Given the description of an element on the screen output the (x, y) to click on. 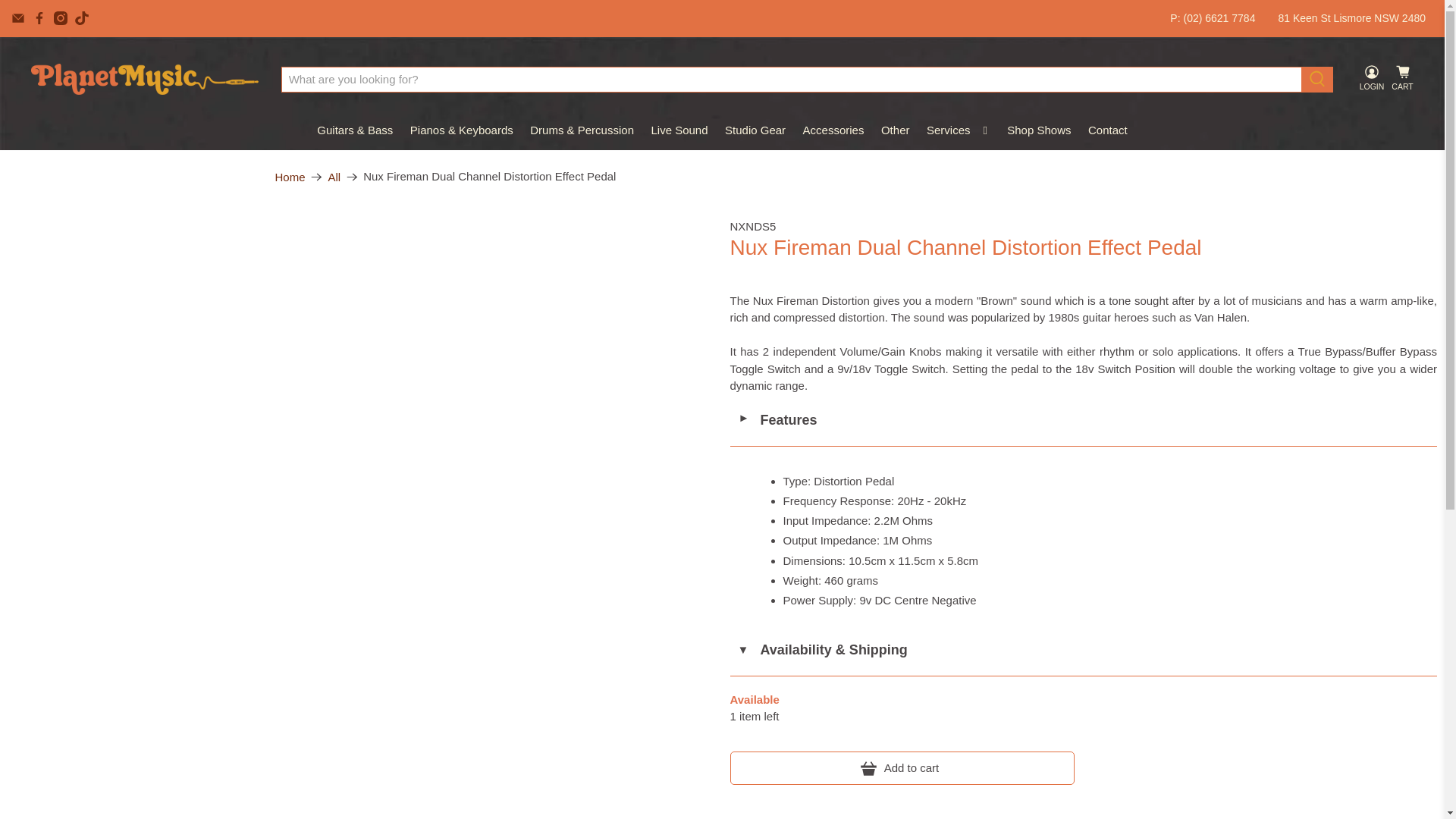
Planet Music on Facebook (39, 18)
Shop Shows (1039, 130)
Planet Music on Instagram (59, 18)
Services (958, 130)
Email Planet Music (17, 18)
Contact (1107, 130)
Accessories (832, 130)
Planet Music on TikTok (81, 18)
Planet Music (144, 79)
Planet Music (289, 176)
Live Sound (679, 130)
Studio Gear (755, 130)
Other (895, 130)
